Given the description of an element on the screen output the (x, y) to click on. 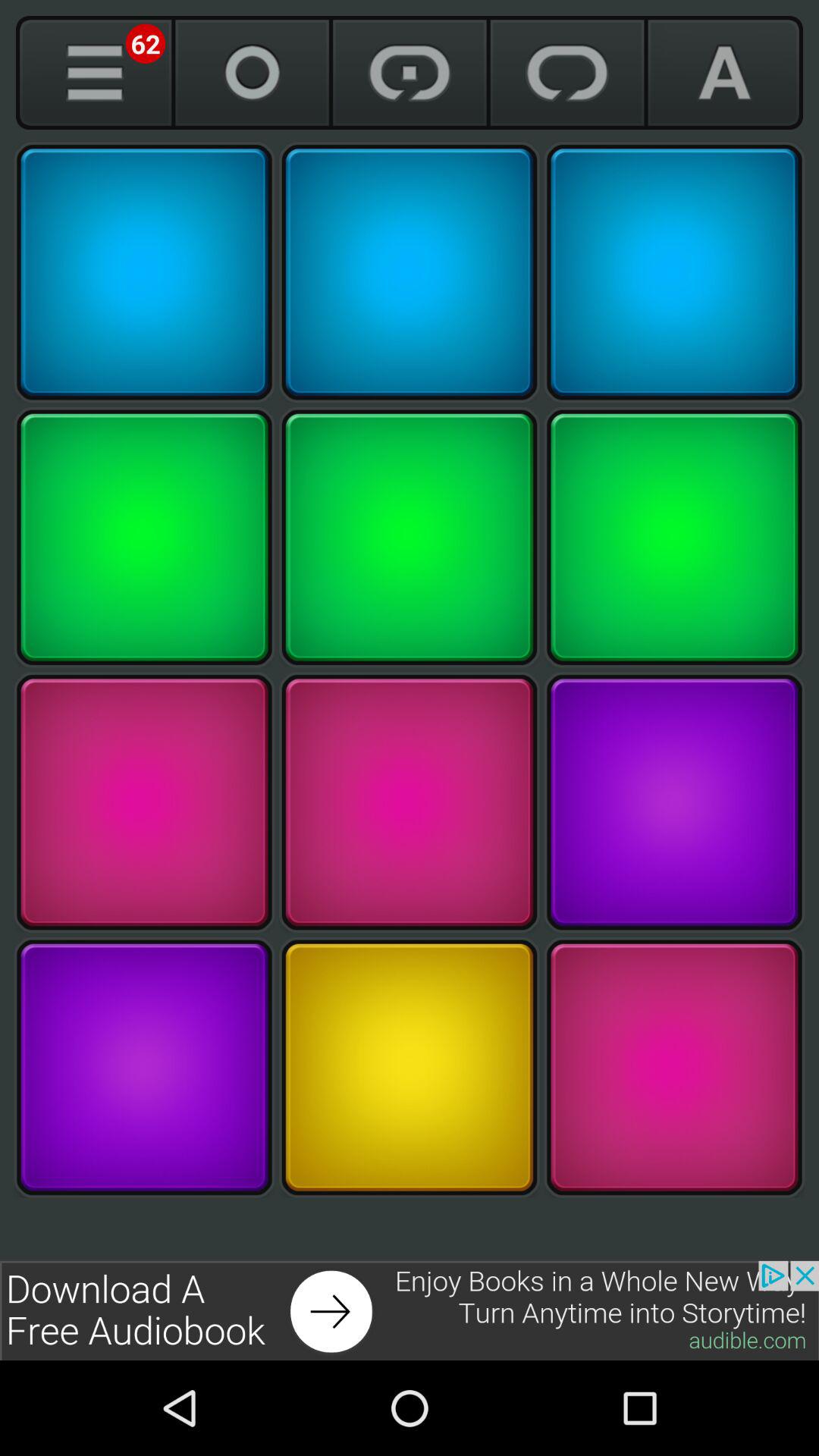
choose green square (144, 537)
